Given the description of an element on the screen output the (x, y) to click on. 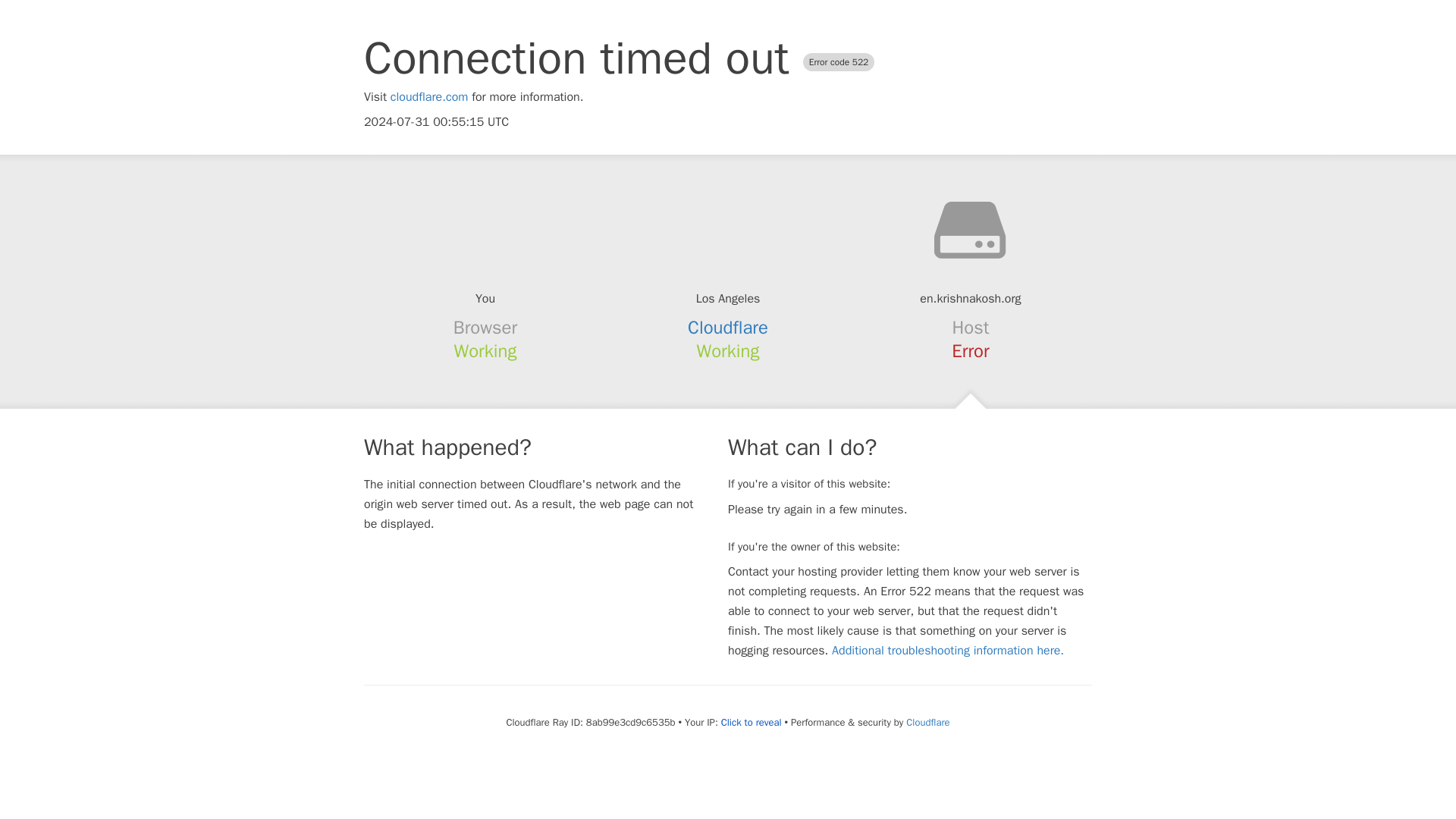
Cloudflare (727, 327)
Click to reveal (750, 722)
cloudflare.com (429, 96)
Cloudflare (927, 721)
Additional troubleshooting information here. (947, 650)
